Given the description of an element on the screen output the (x, y) to click on. 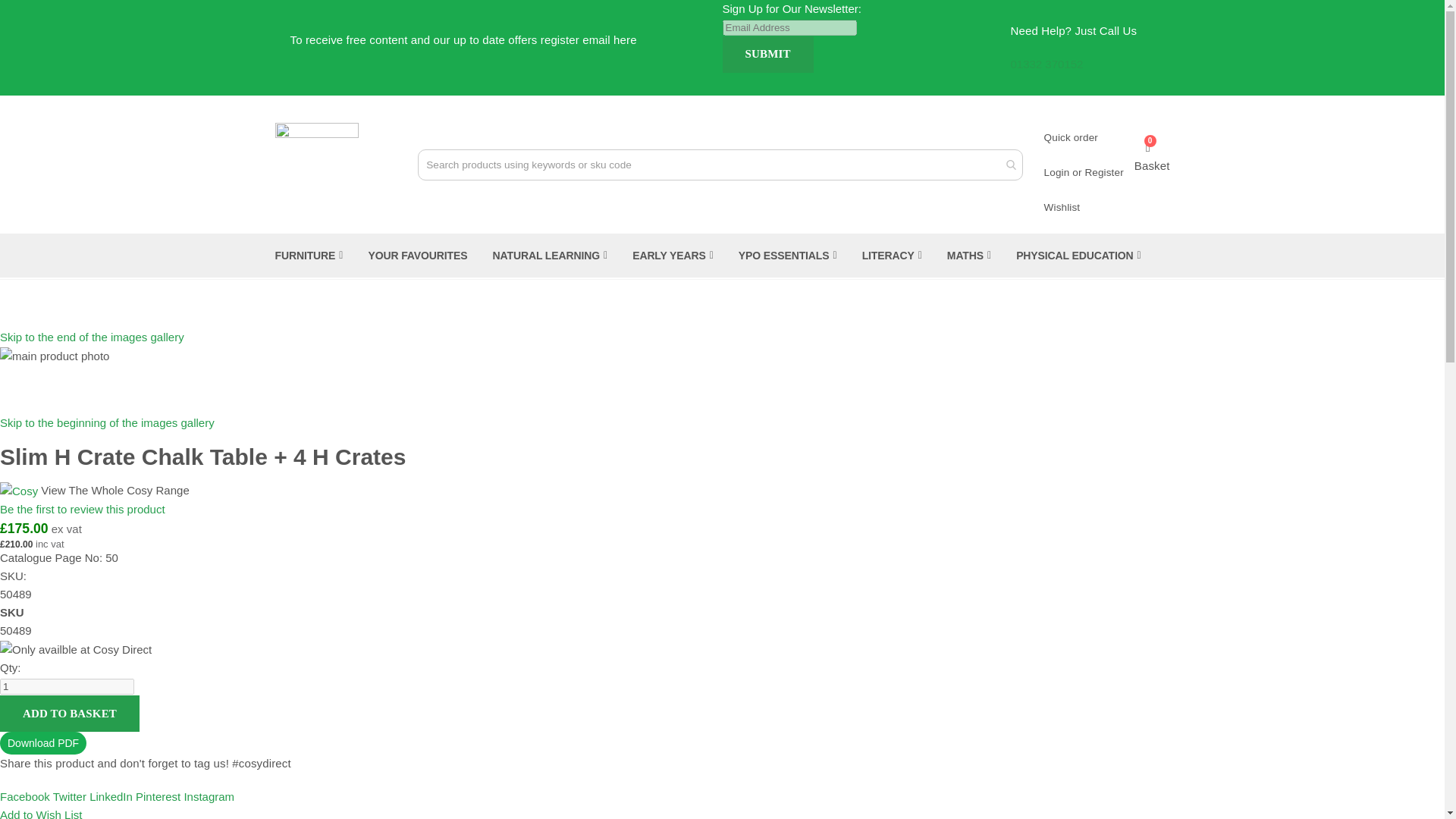
01332 370152 (1046, 63)
Submit (767, 54)
1 (66, 686)
SUBMIT (767, 54)
NATURAL LEARNING (550, 255)
Furniture (309, 255)
FURNITURE (309, 255)
YOUR FAVOURITES (417, 255)
